Given the description of an element on the screen output the (x, y) to click on. 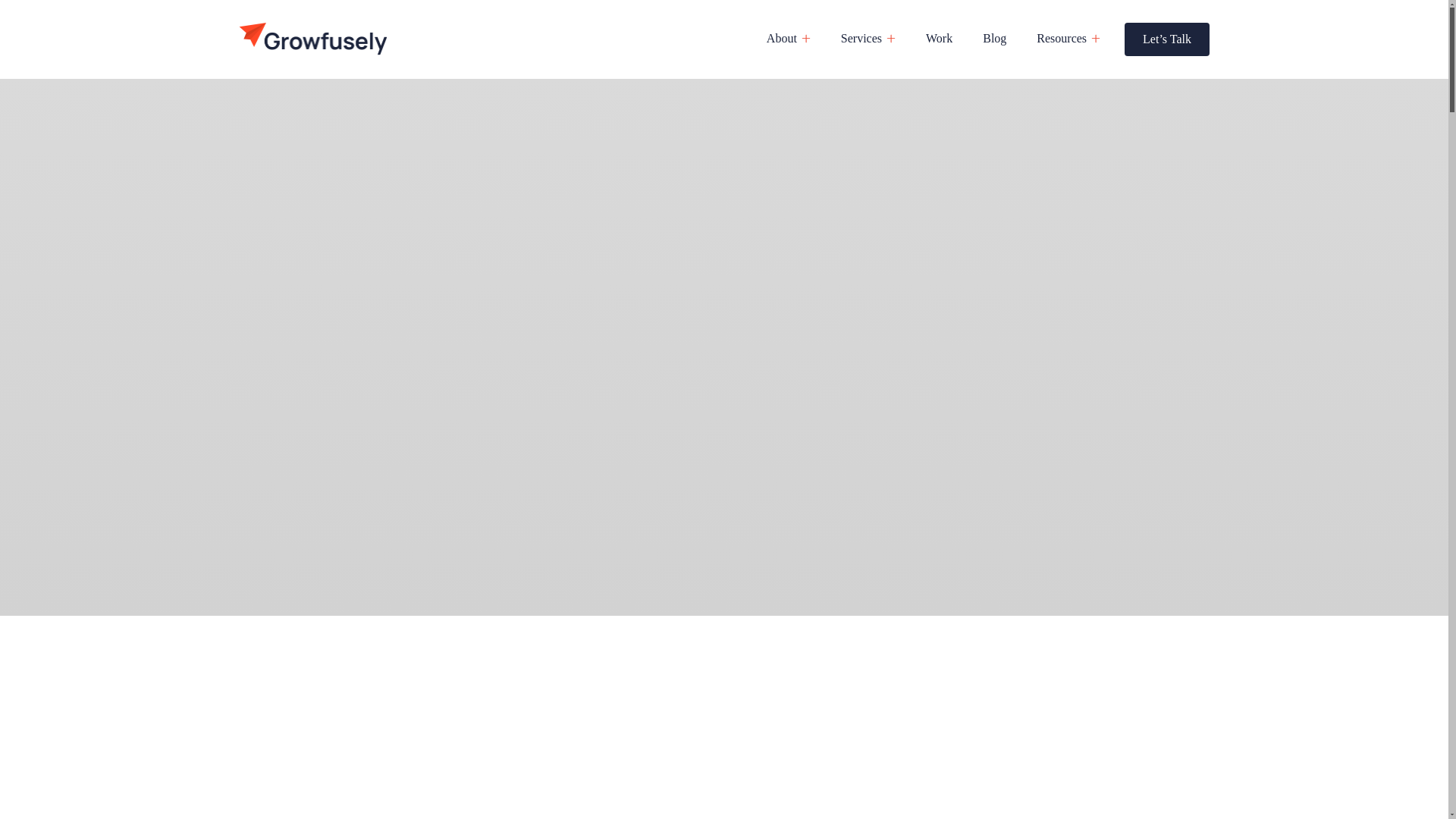
About (781, 38)
Resources (1061, 38)
Work (939, 38)
Services (861, 38)
